Given the description of an element on the screen output the (x, y) to click on. 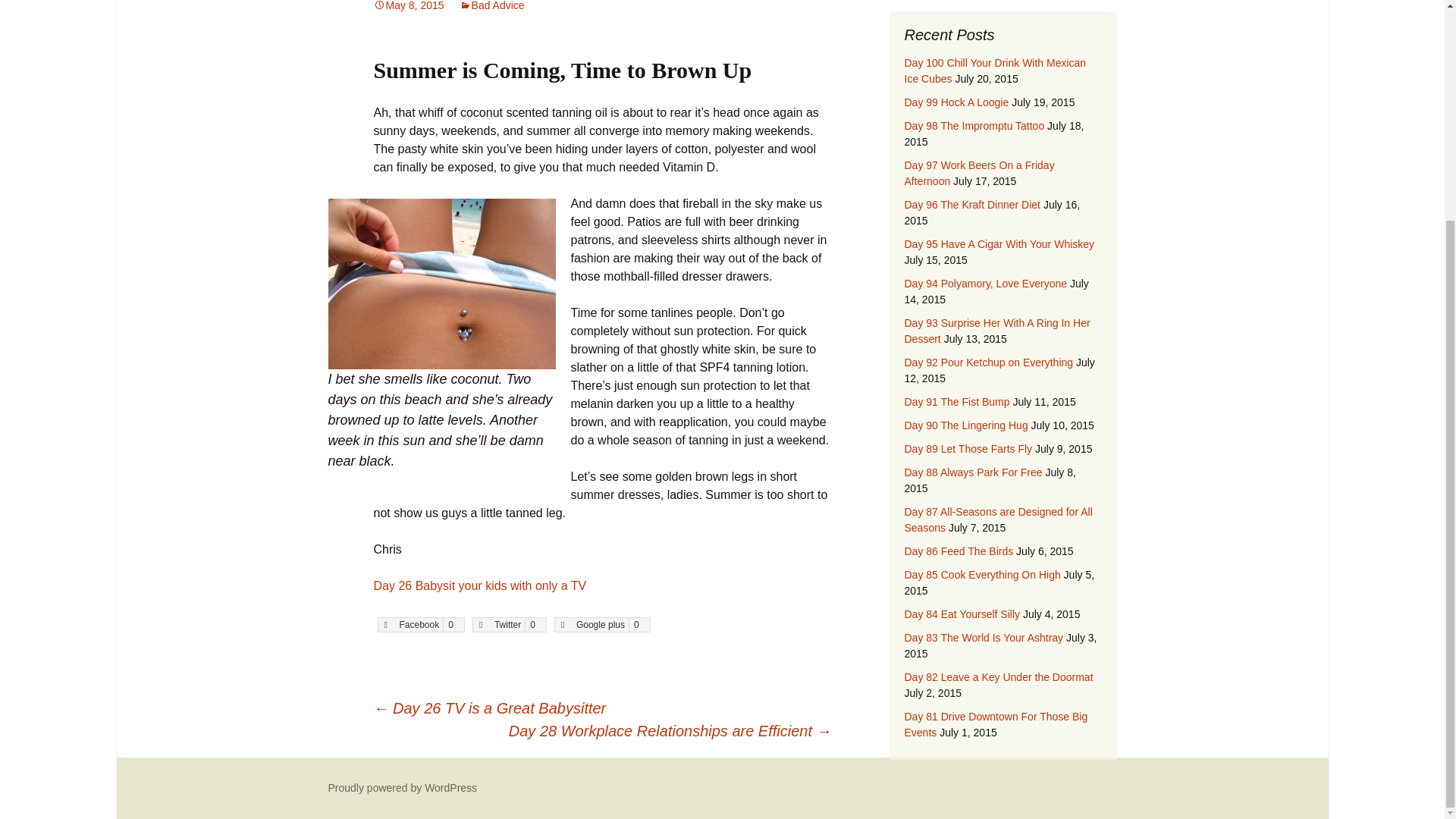
Google plus0 (602, 624)
Permalink to Day 27 Baby Oil or SPF 4 (408, 5)
Day 89 Let Those Farts Fly (968, 449)
Day 81 Drive Downtown For Those Big Events (995, 724)
Day 99 Hock A Loogie (956, 102)
Facebook0 (420, 624)
Day 94 Polyamory, Love Everyone (985, 283)
Day 85 Cook Everything On High (981, 574)
Day 26 Babysit your kids with only a TV  (480, 585)
Day 92 Pour Ketchup on Everything (988, 362)
Day 90 The Lingering Hug (965, 425)
Twitter0 (509, 624)
Day 100 Chill Your Drink With Mexican Ice Cubes (995, 70)
Day 83 The World Is Your Ashtray (983, 637)
Day 91 The Fist Bump (956, 401)
